Given the description of an element on the screen output the (x, y) to click on. 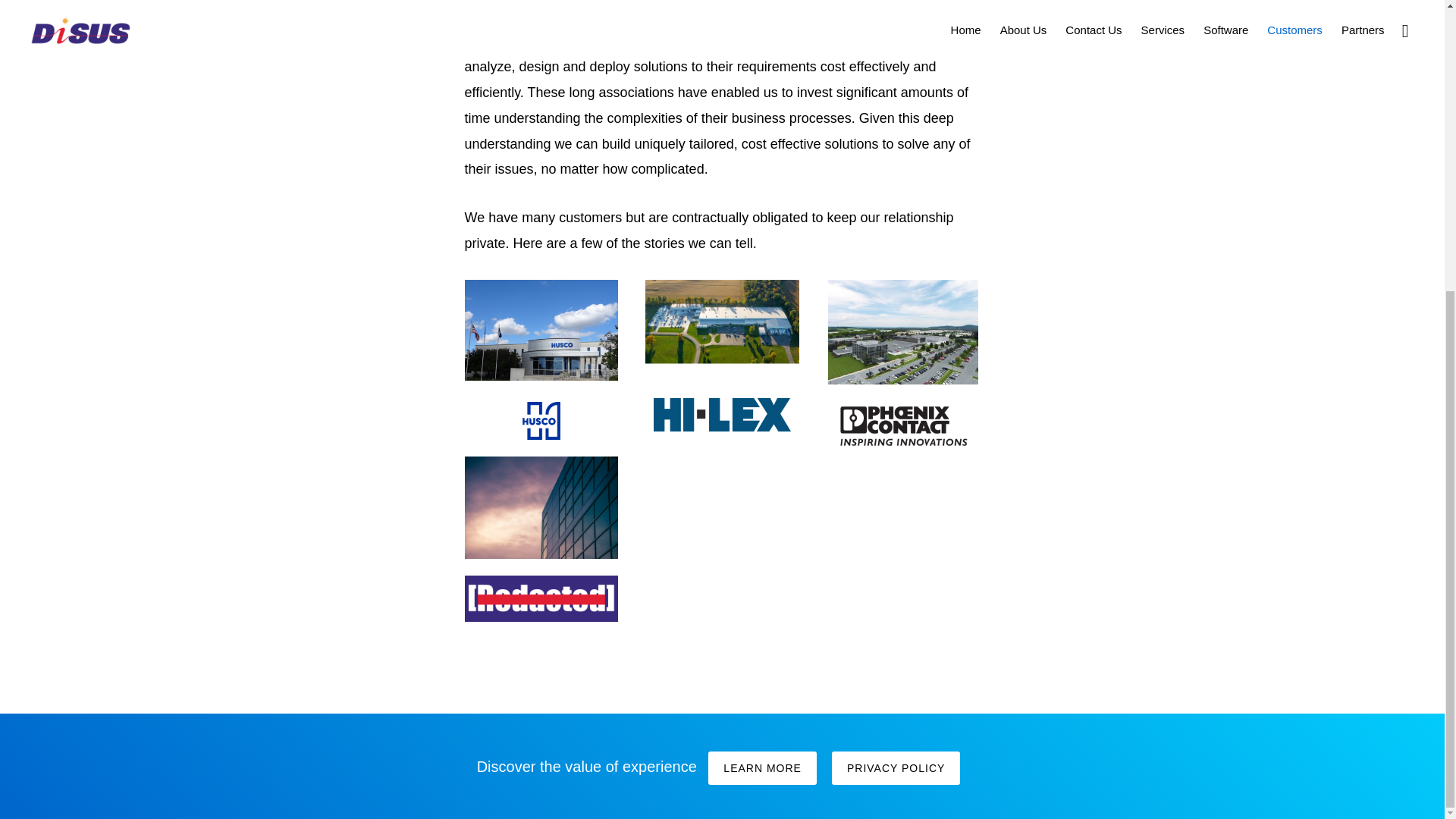
PRIVACY POLICY (895, 767)
Powered by TurnKey Linux (788, 341)
LEARN MORE (761, 767)
